Given the description of an element on the screen output the (x, y) to click on. 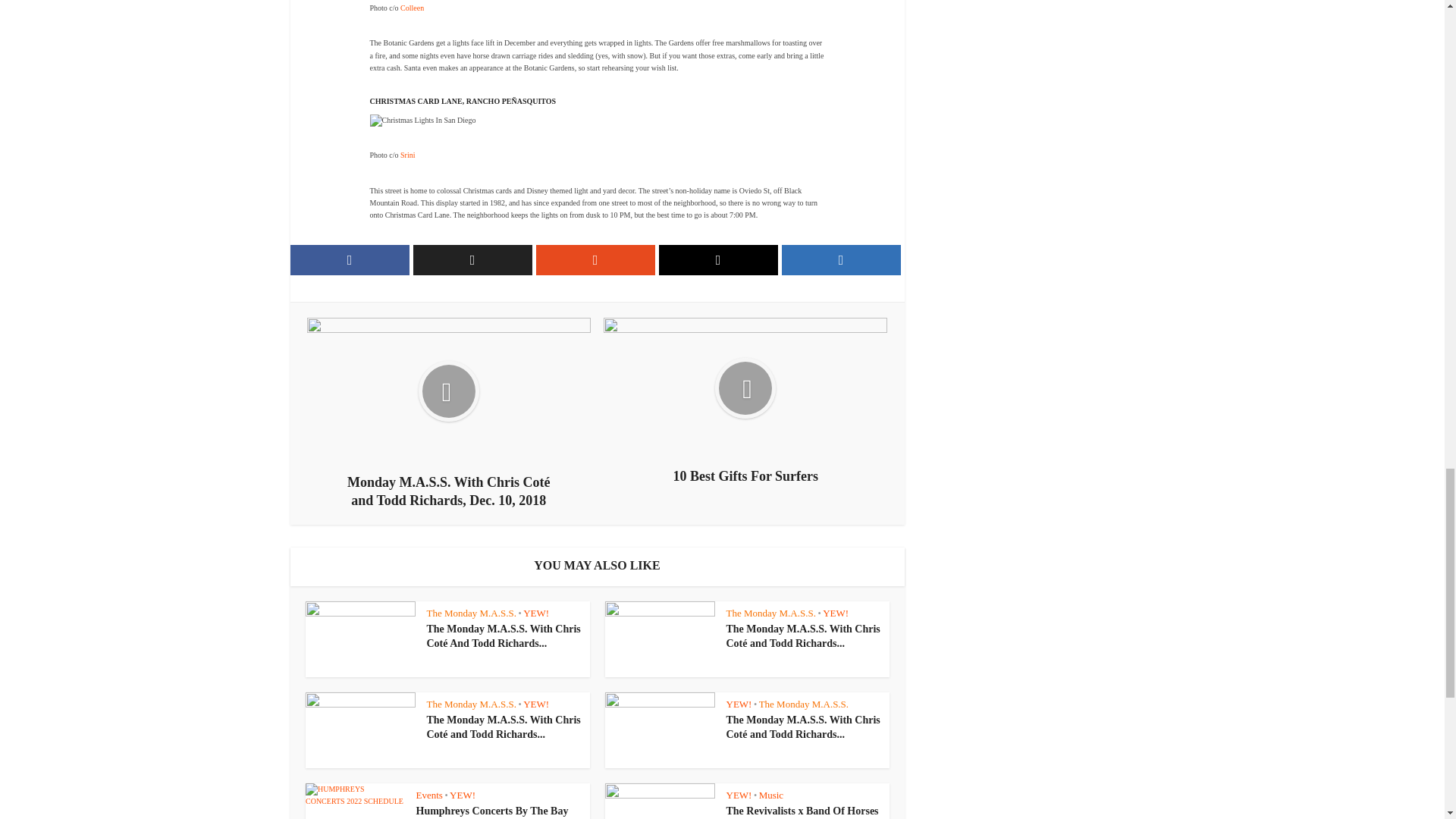
Humphreys Concerts By The Bay 2023 Schedule (490, 812)
